Given the description of an element on the screen output the (x, y) to click on. 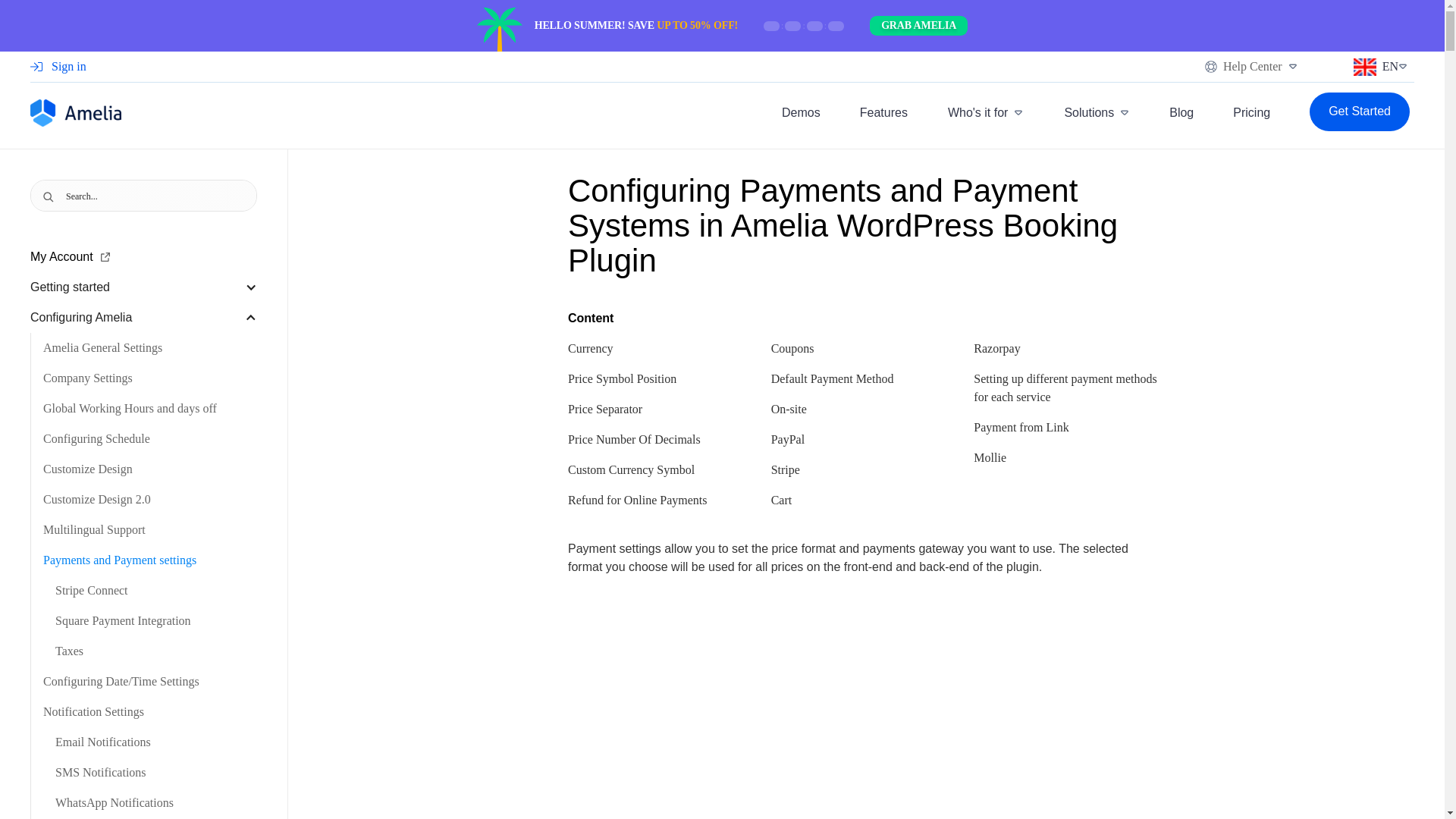
GRAB AMELIA (918, 25)
Features (883, 96)
Sign in (57, 5)
Blog (1181, 112)
Get Started (1358, 111)
Pricing (1251, 112)
Demos (801, 92)
